Given the description of an element on the screen output the (x, y) to click on. 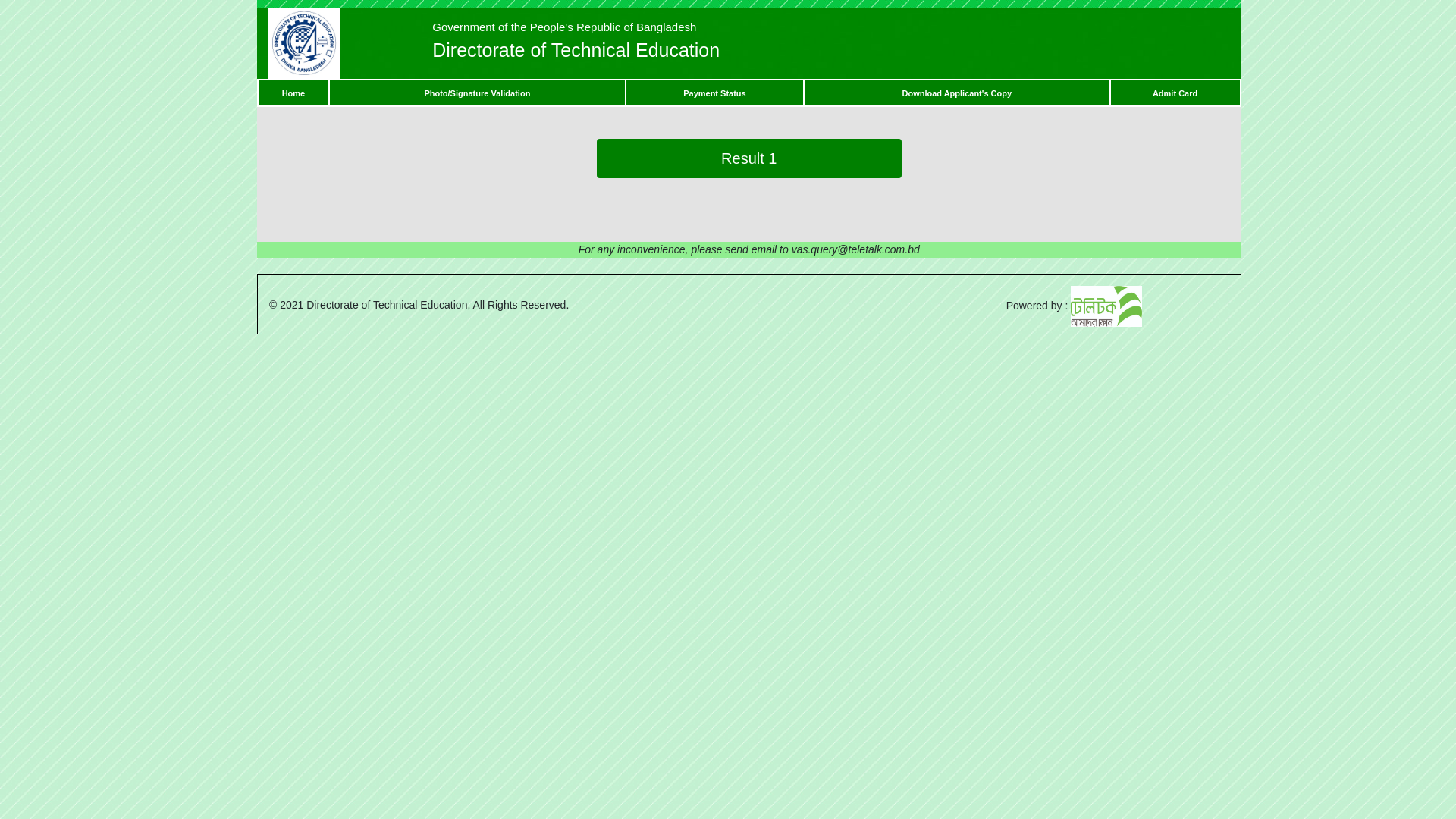
Home Element type: text (293, 92)
Result 1 Element type: text (748, 158)
Payment Status Element type: text (714, 92)
Admit Card Element type: text (1174, 92)
Photo/Signature Validation Element type: text (476, 92)
Download Applicant's Copy Element type: text (956, 92)
